Given the description of an element on the screen output the (x, y) to click on. 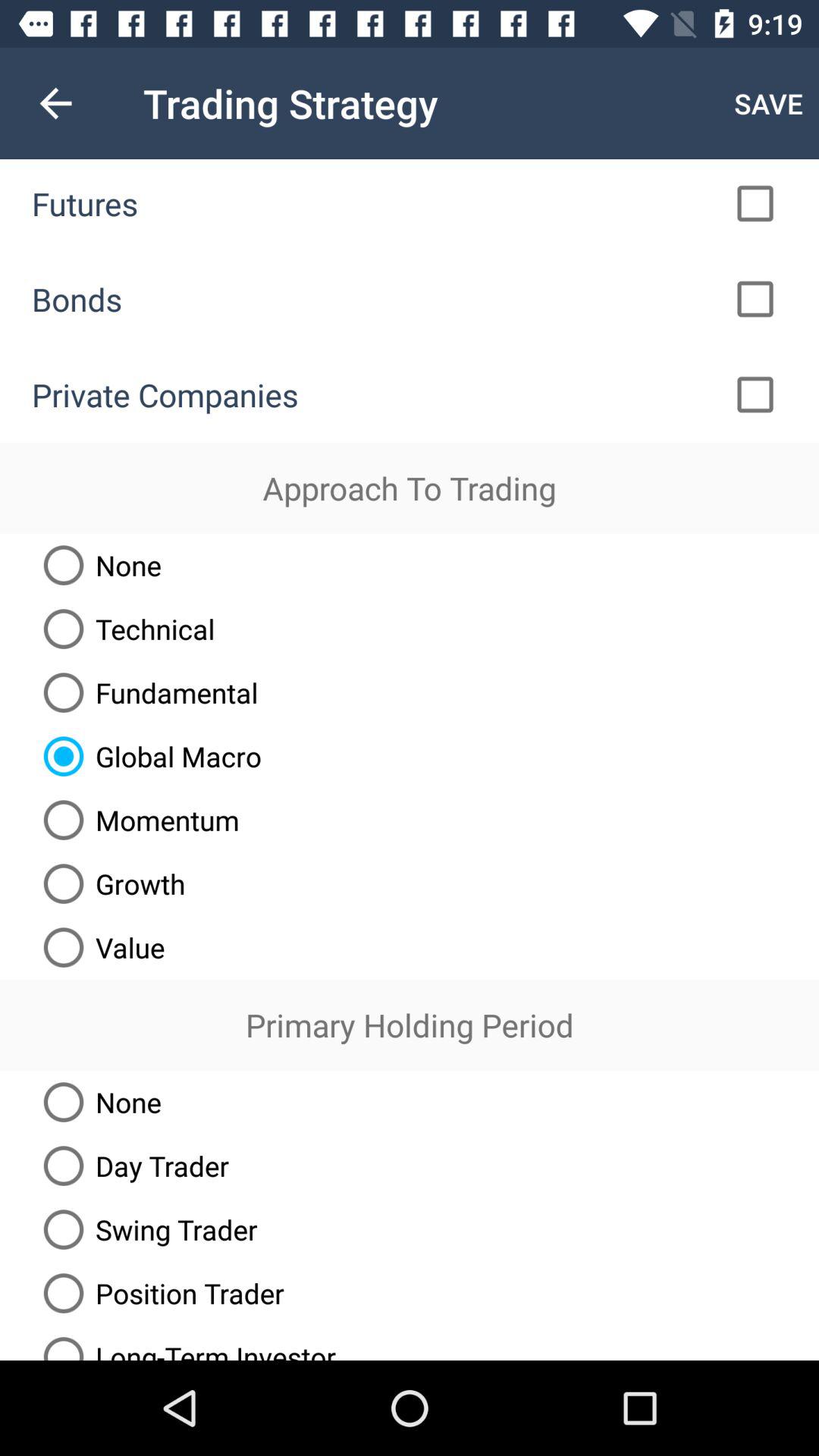
click value item (97, 947)
